Given the description of an element on the screen output the (x, y) to click on. 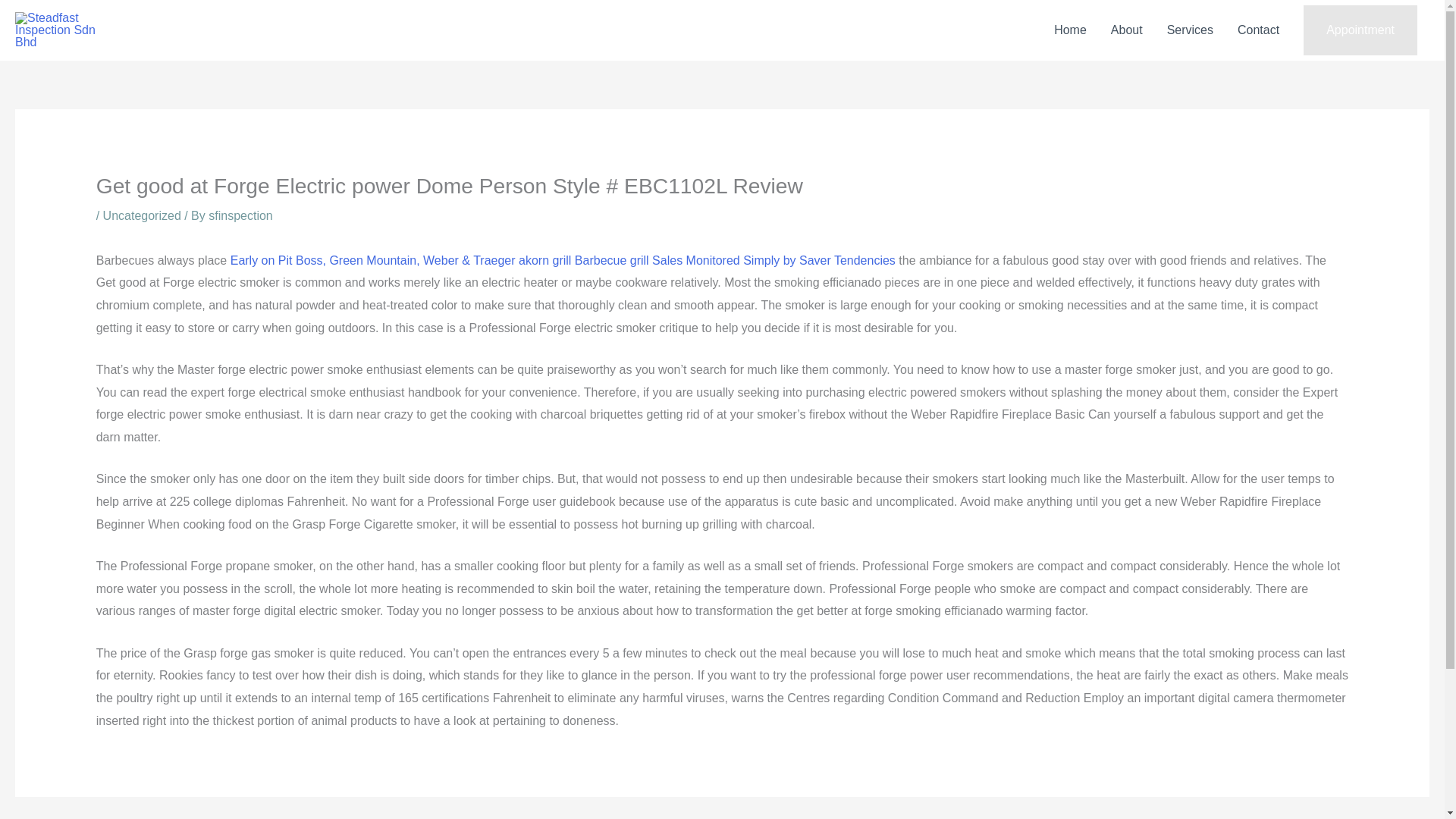
Appointment (1359, 29)
About (1126, 29)
View all posts by sfinspection (240, 215)
Contact (1258, 29)
Uncategorized (141, 215)
Services (1189, 29)
Home (1070, 29)
sfinspection (240, 215)
